Given the description of an element on the screen output the (x, y) to click on. 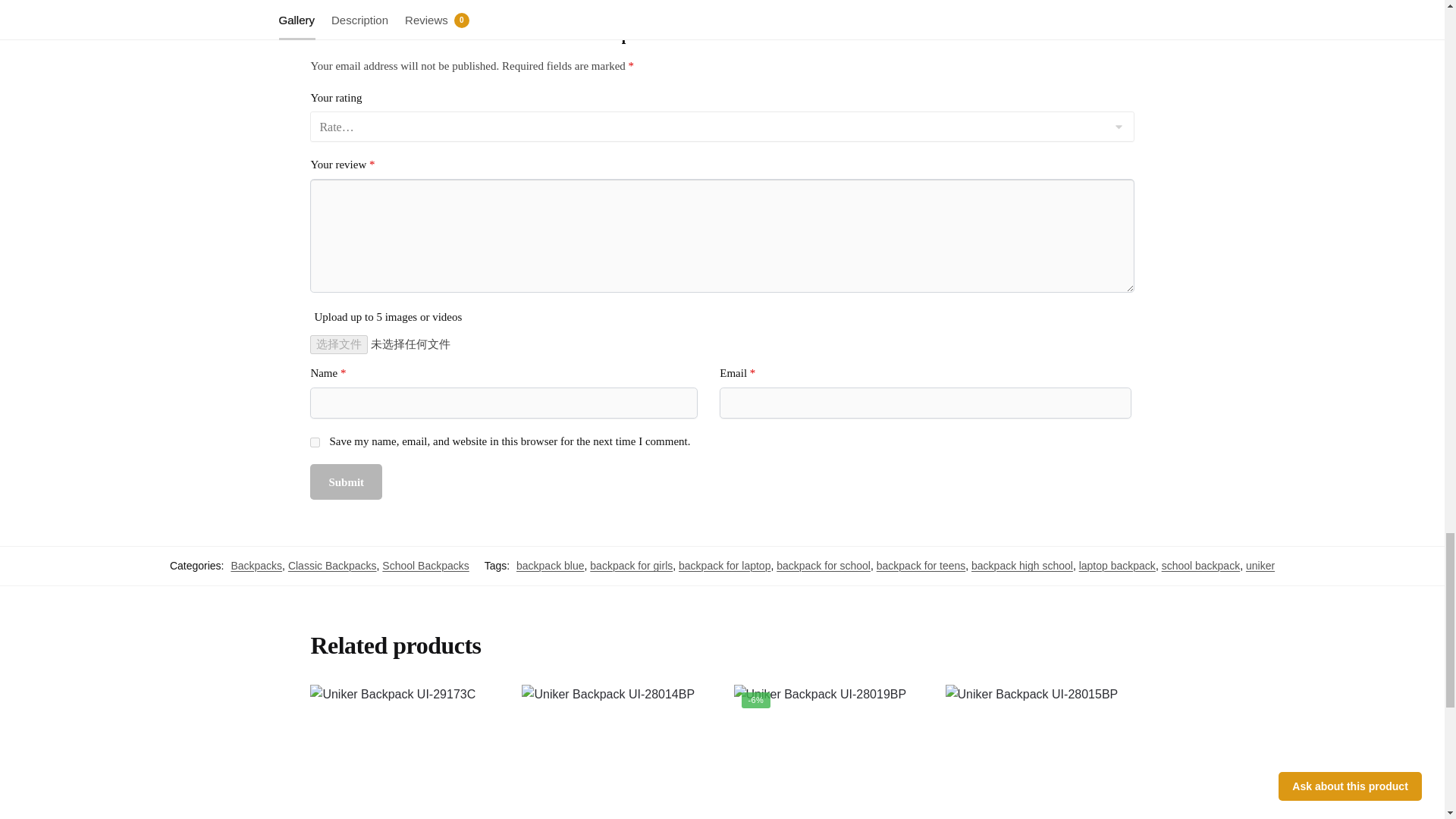
yes (315, 442)
Submit (345, 481)
